Given the description of an element on the screen output the (x, y) to click on. 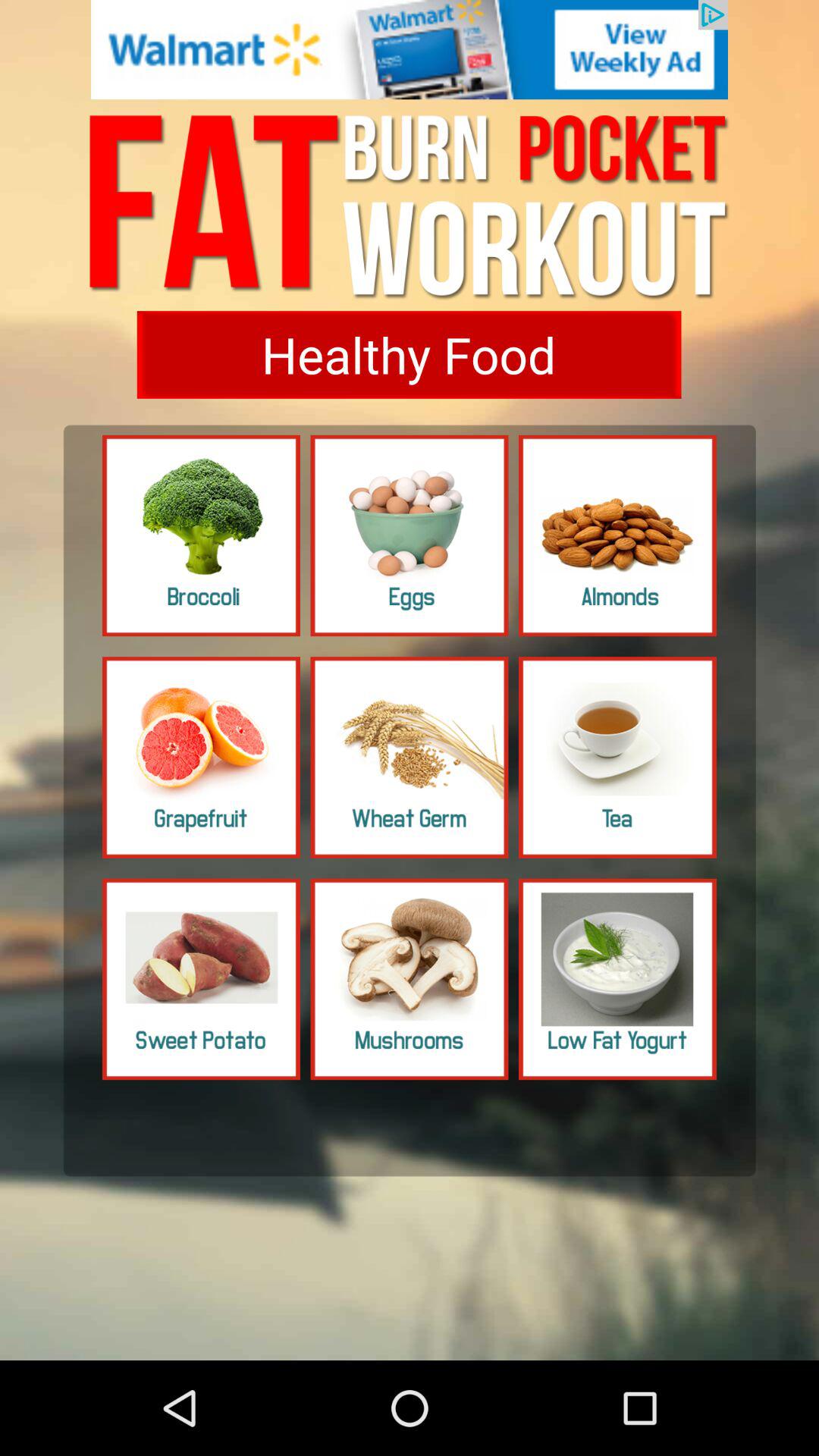
click the image (409, 757)
